Given the description of an element on the screen output the (x, y) to click on. 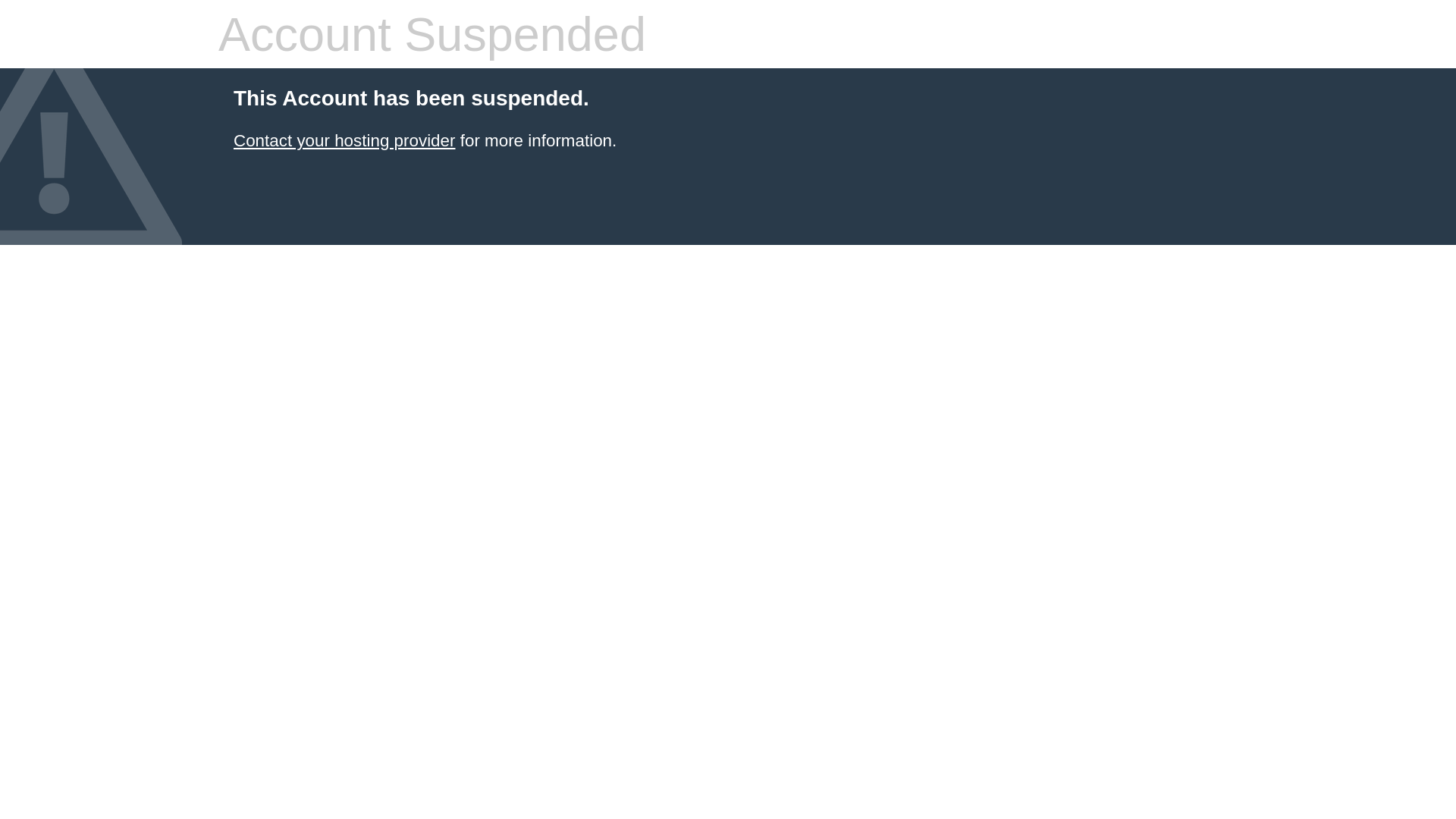
Contact your hosting provider Element type: text (344, 140)
